Given the description of an element on the screen output the (x, y) to click on. 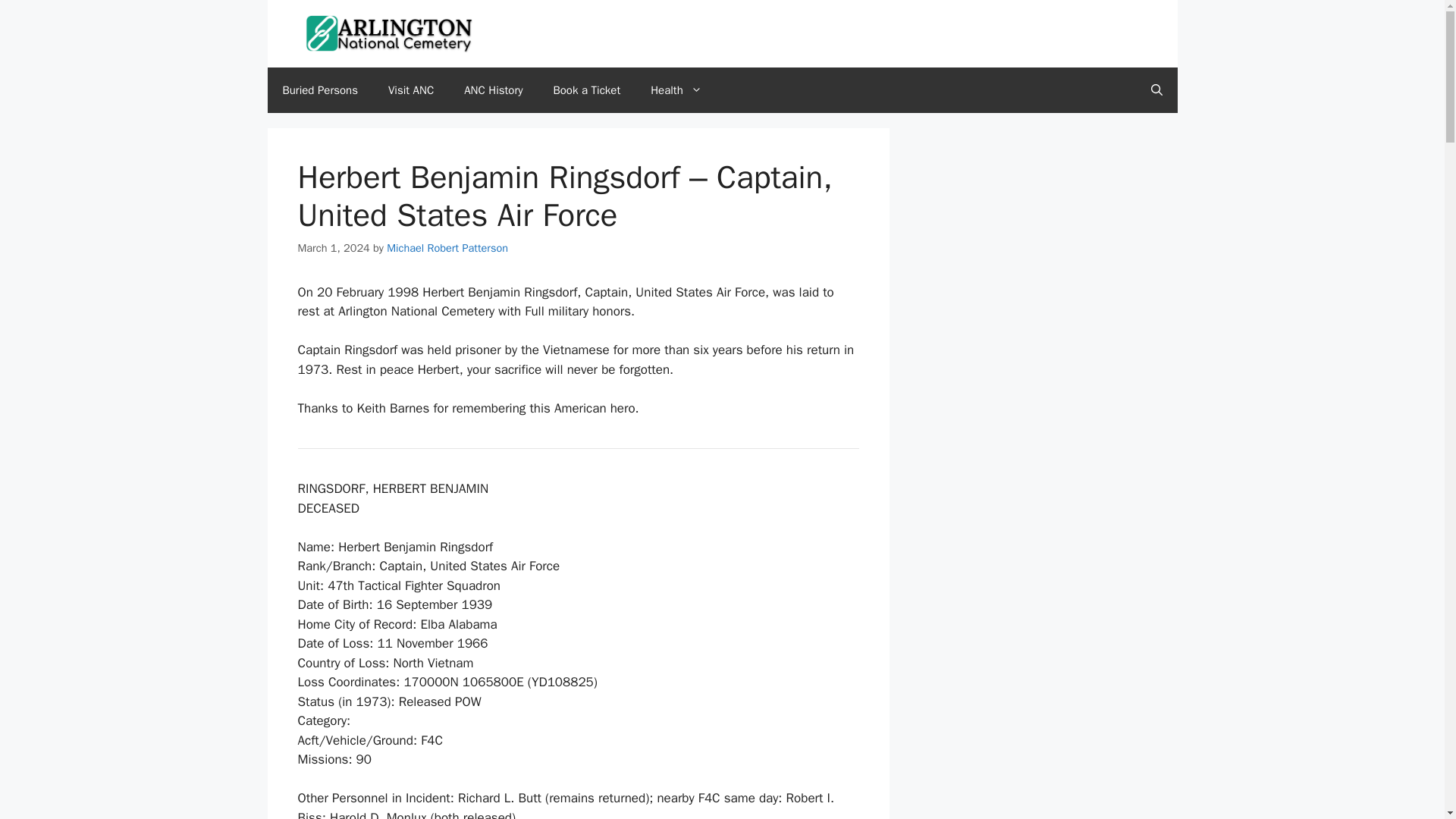
Book a Ticket (587, 90)
View all posts by Michael Robert Patterson (447, 247)
Buried Persons (319, 90)
Buried Persons (319, 90)
Visit ANC (410, 90)
ANC History (492, 90)
Health (675, 90)
